Given the description of an element on the screen output the (x, y) to click on. 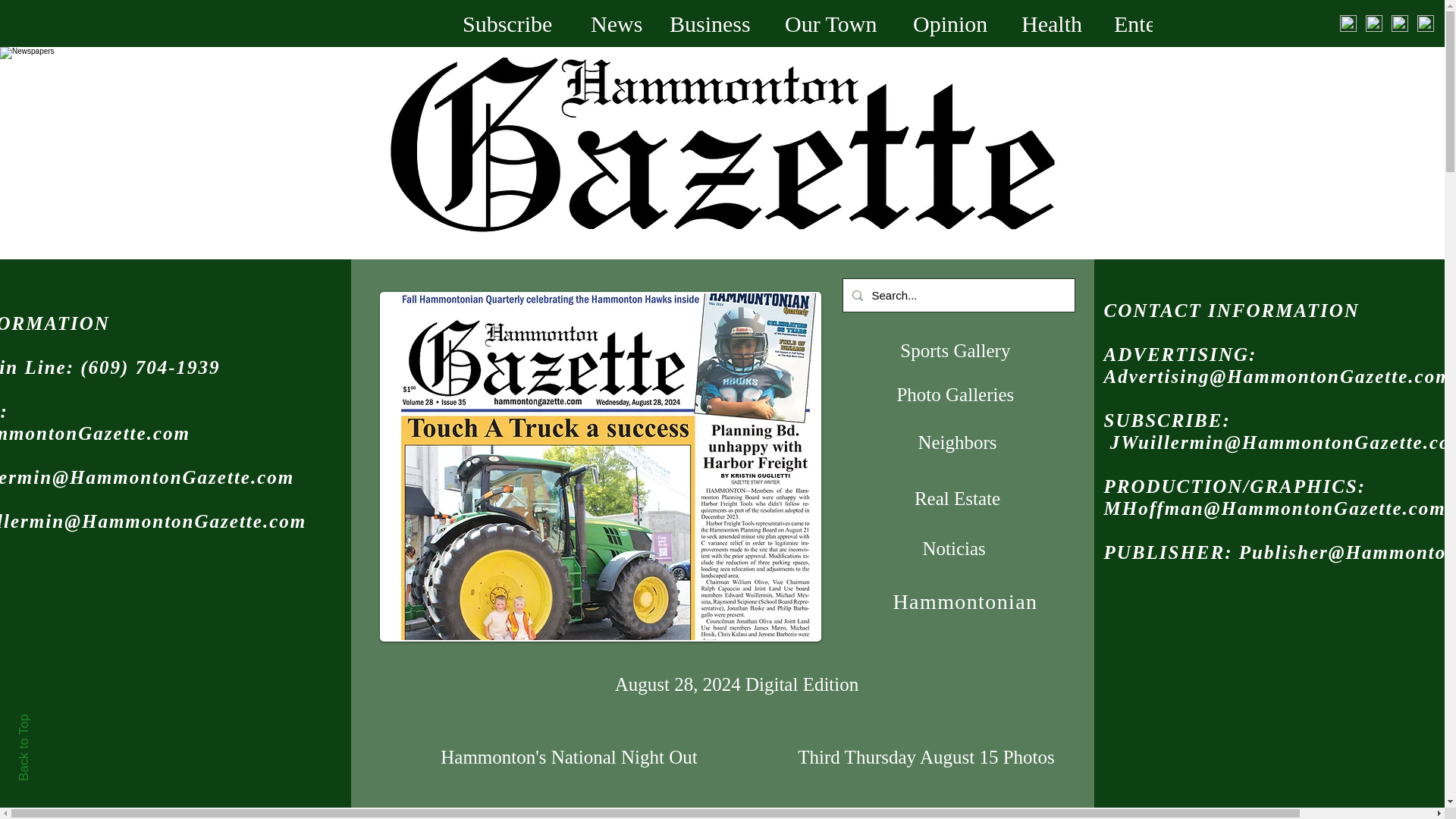
Subscribe (515, 23)
Entertainment (1190, 23)
News (618, 23)
Sports (1324, 23)
Health (1056, 23)
Business (715, 23)
Opinion (955, 23)
Our Town (837, 23)
